Given the description of an element on the screen output the (x, y) to click on. 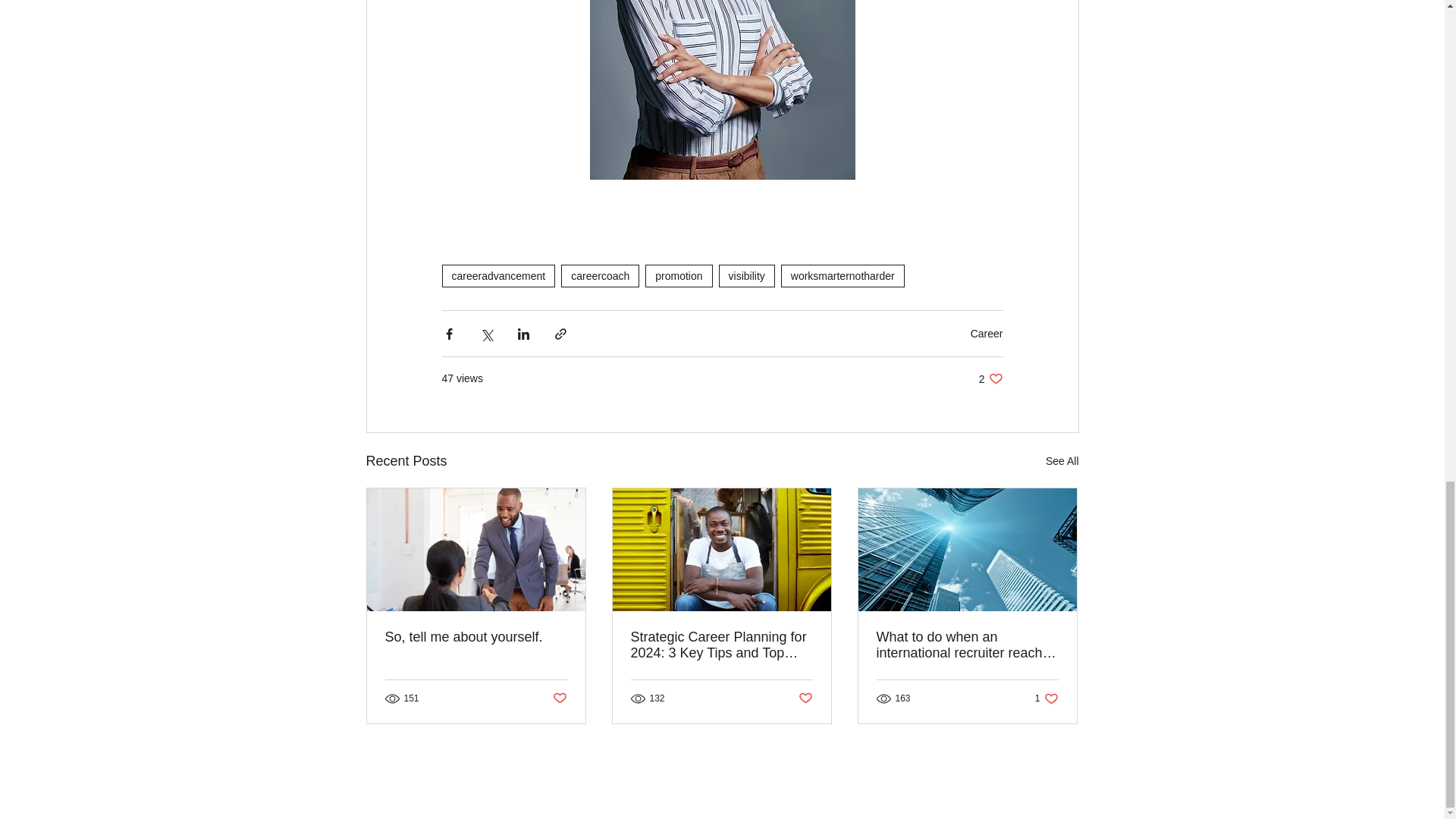
See All (1061, 461)
promotion (678, 275)
visibility (746, 275)
So, tell me about yourself. (990, 378)
Career (476, 637)
careercoach (987, 333)
Post not marked as liked (599, 275)
worksmarternotharder (558, 698)
careeradvancement (842, 275)
Post not marked as liked (497, 275)
